Given the description of an element on the screen output the (x, y) to click on. 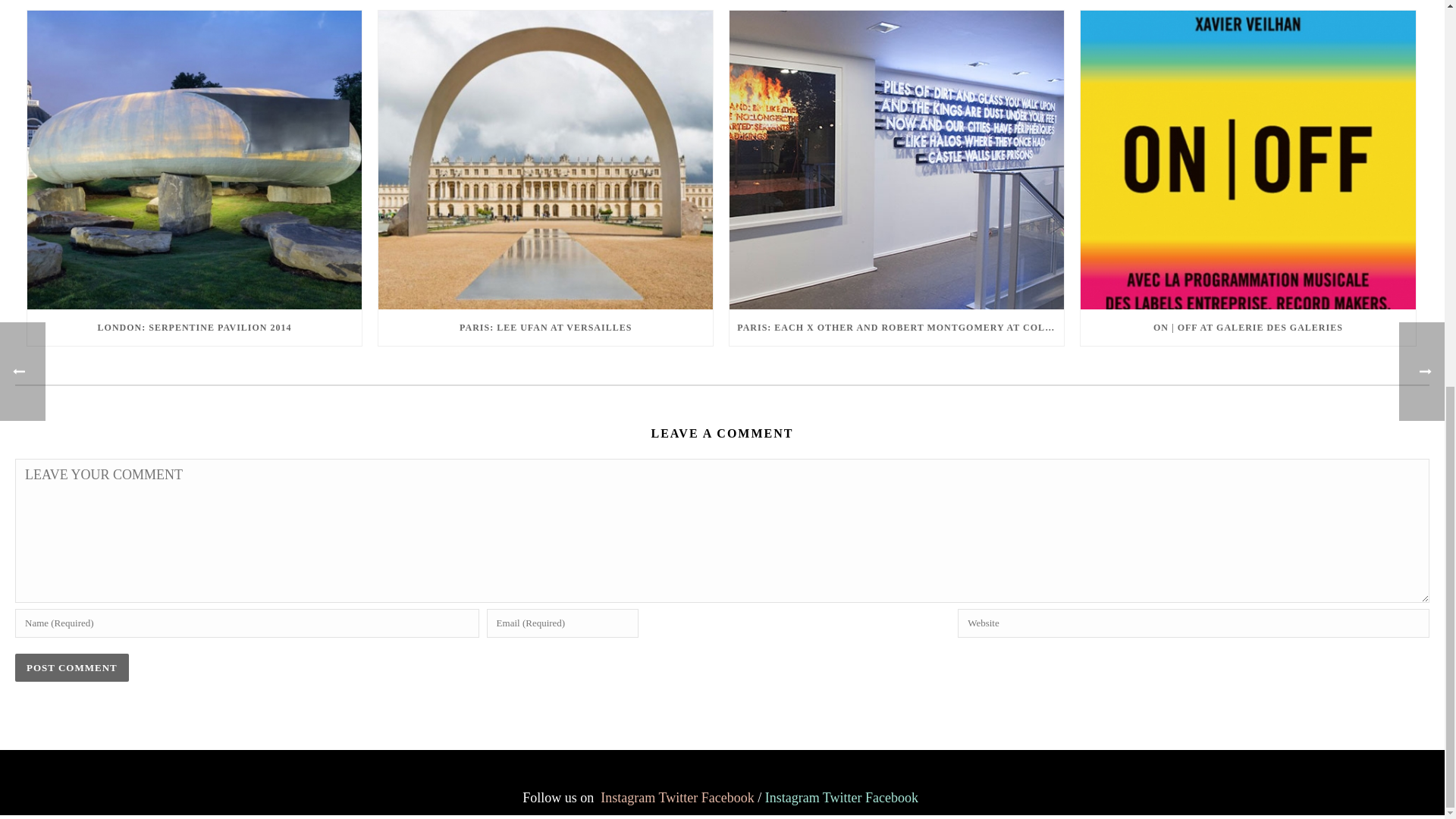
Twitter (841, 797)
PARIS: LEE UFAN AT VERSAILLES (545, 159)
POST COMMENT (71, 667)
Instagram (792, 797)
PARIS: EACH X OTHER AND ROBERT MONTGOMERY AT COLETTE (896, 327)
Instagram (627, 797)
POST COMMENT (71, 667)
PARIS: LEE UFAN AT VERSAILLES (545, 327)
Facebook (727, 797)
LONDON: SERPENTINE PAVILION 2014 (194, 327)
LONDON: SERPENTINE PAVILION 2014 (194, 159)
Facebook (891, 797)
Twitter (677, 797)
